Given the description of an element on the screen output the (x, y) to click on. 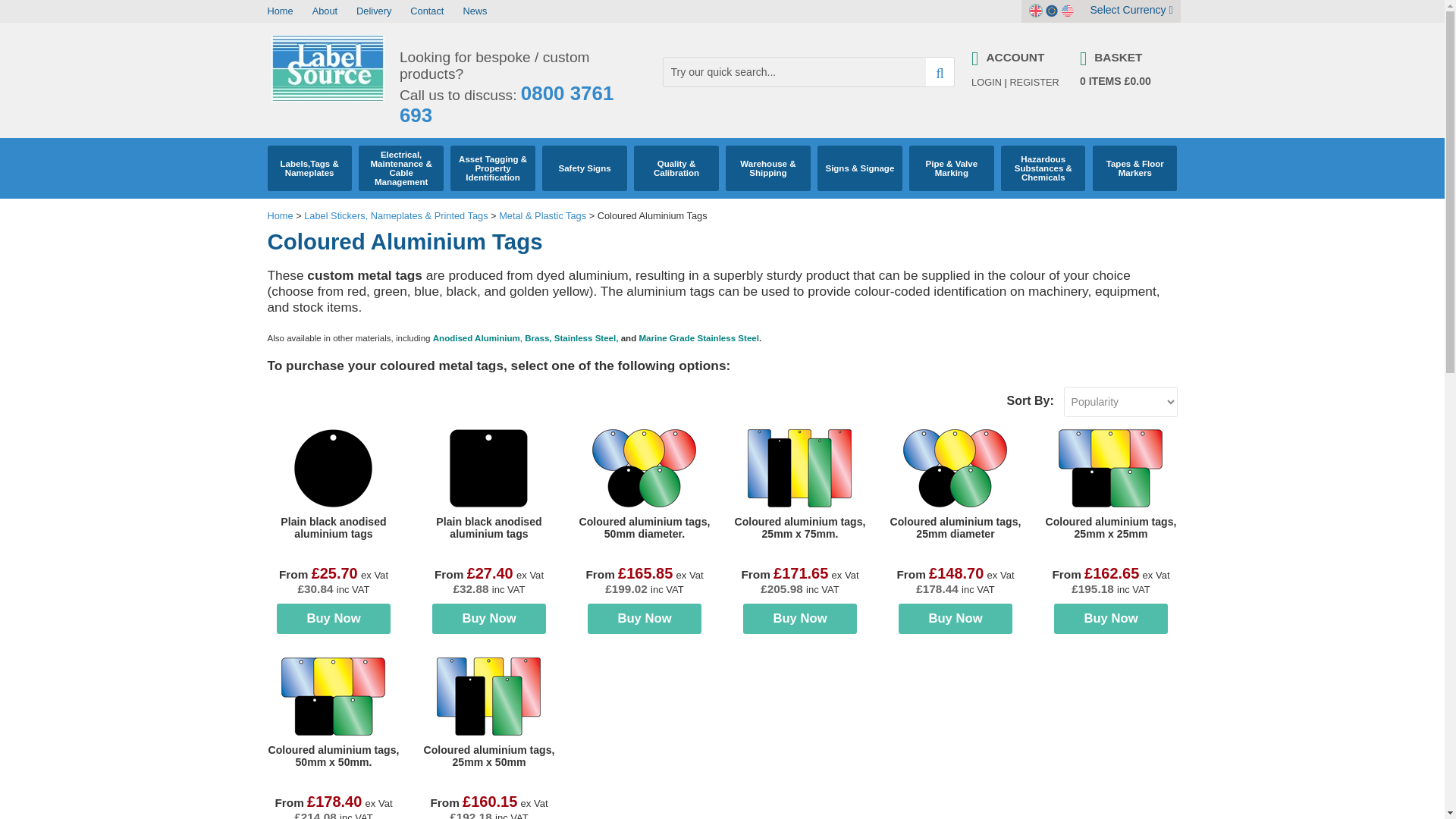
Contact (427, 10)
LOGIN (986, 81)
Delivery (373, 10)
ACCOUNT (1017, 58)
News (474, 10)
Home (279, 10)
EUR (1051, 10)
call us today on 0800 3761 693 (505, 104)
Delivery (373, 10)
Label Source (327, 98)
About (325, 10)
REGISTER (1033, 81)
Account (1017, 58)
0800 3761 693 (505, 104)
Home (279, 10)
